Given the description of an element on the screen output the (x, y) to click on. 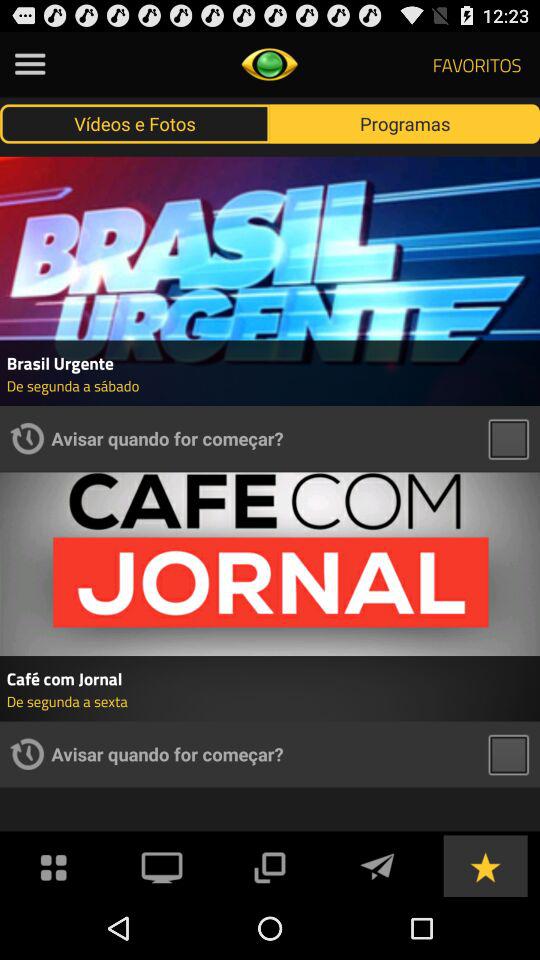
open the icon to the left of avisar quando for app (27, 753)
